Given the description of an element on the screen output the (x, y) to click on. 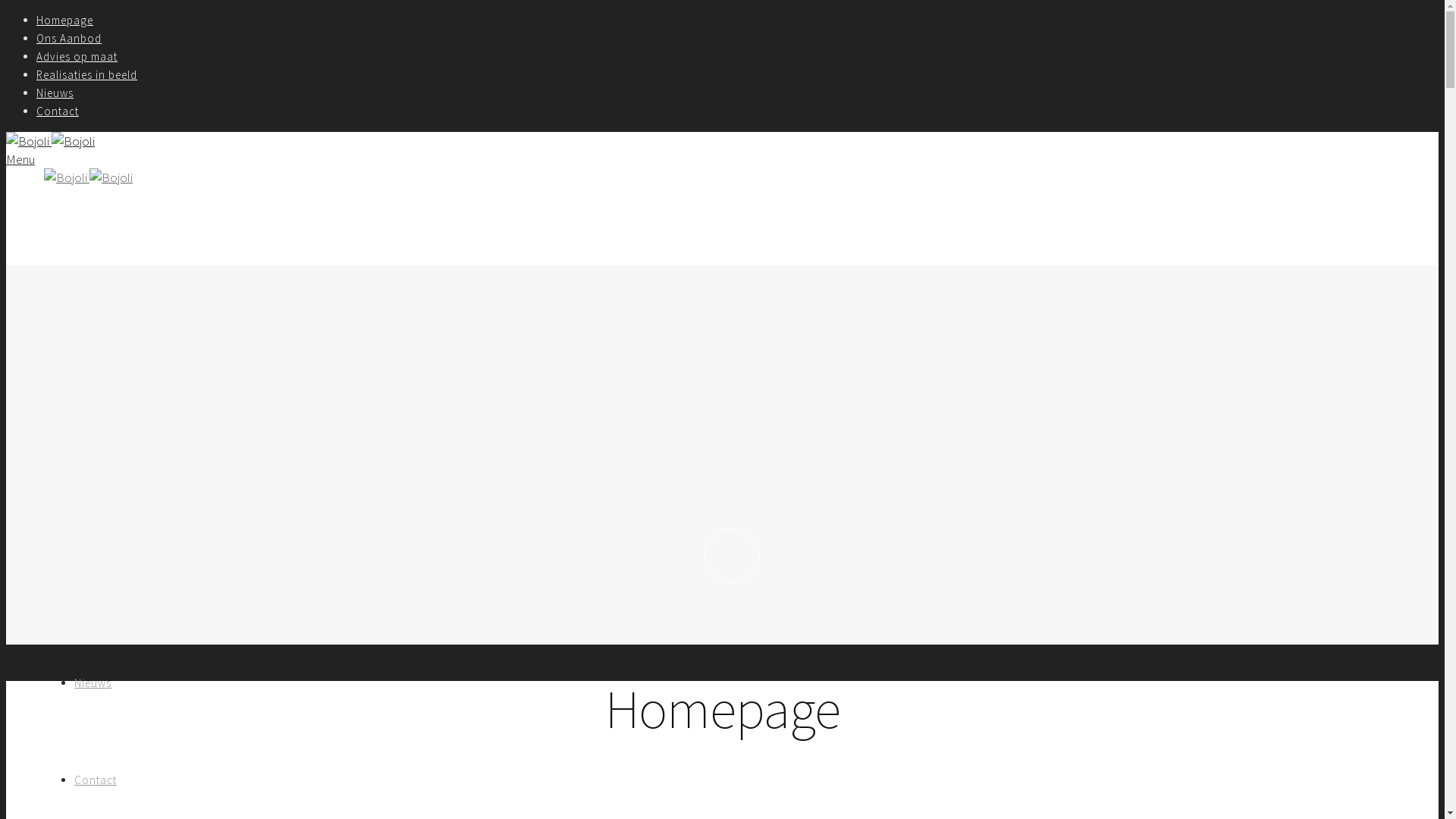
Advies op maat Element type: text (76, 56)
Nieuws Element type: text (54, 92)
Realisaties in beeld Element type: text (124, 585)
Ons Aanbod Element type: text (106, 391)
Realisaties in beeld Element type: text (86, 74)
Contact Element type: text (57, 110)
Ons Aanbod Element type: text (68, 38)
Contact Element type: text (95, 779)
Advies op maat Element type: text (114, 488)
Nieuws Element type: text (92, 682)
Homepage Element type: text (90, 294)
Menu Element type: text (20, 158)
Homepage Element type: text (64, 19)
